Given the description of an element on the screen output the (x, y) to click on. 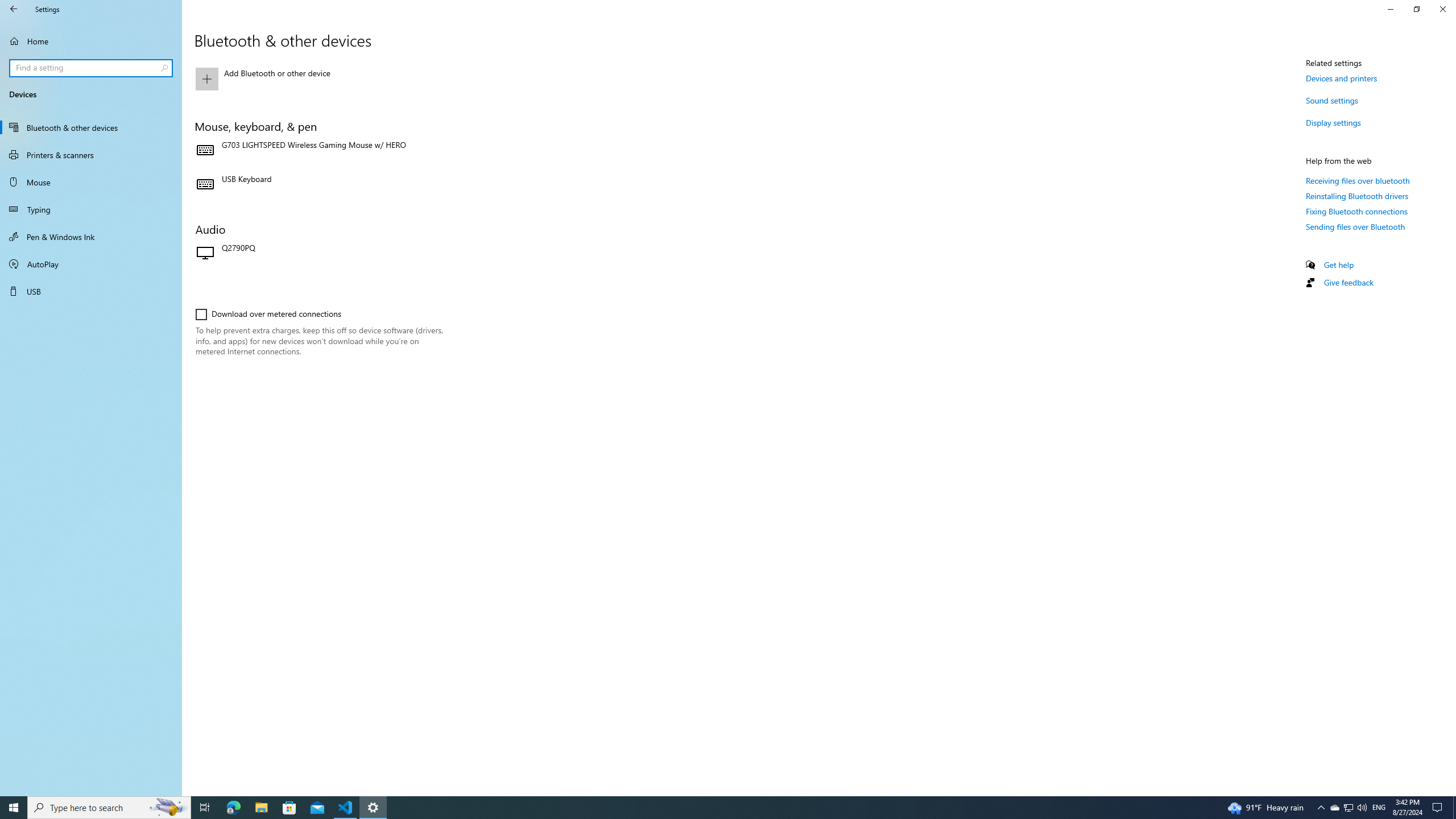
Mouse (91, 181)
Reinstalling Bluetooth drivers (1357, 195)
G703 LIGHTSPEED Wireless Gaming Mouse w/ HERO Type: Keyboard (319, 150)
Download over metered connections (268, 314)
Restore Settings (1416, 9)
Home (91, 40)
Pen & Windows Ink (91, 236)
Give feedback (1348, 281)
Q2790PQ Type: Display device (319, 253)
